Given the description of an element on the screen output the (x, y) to click on. 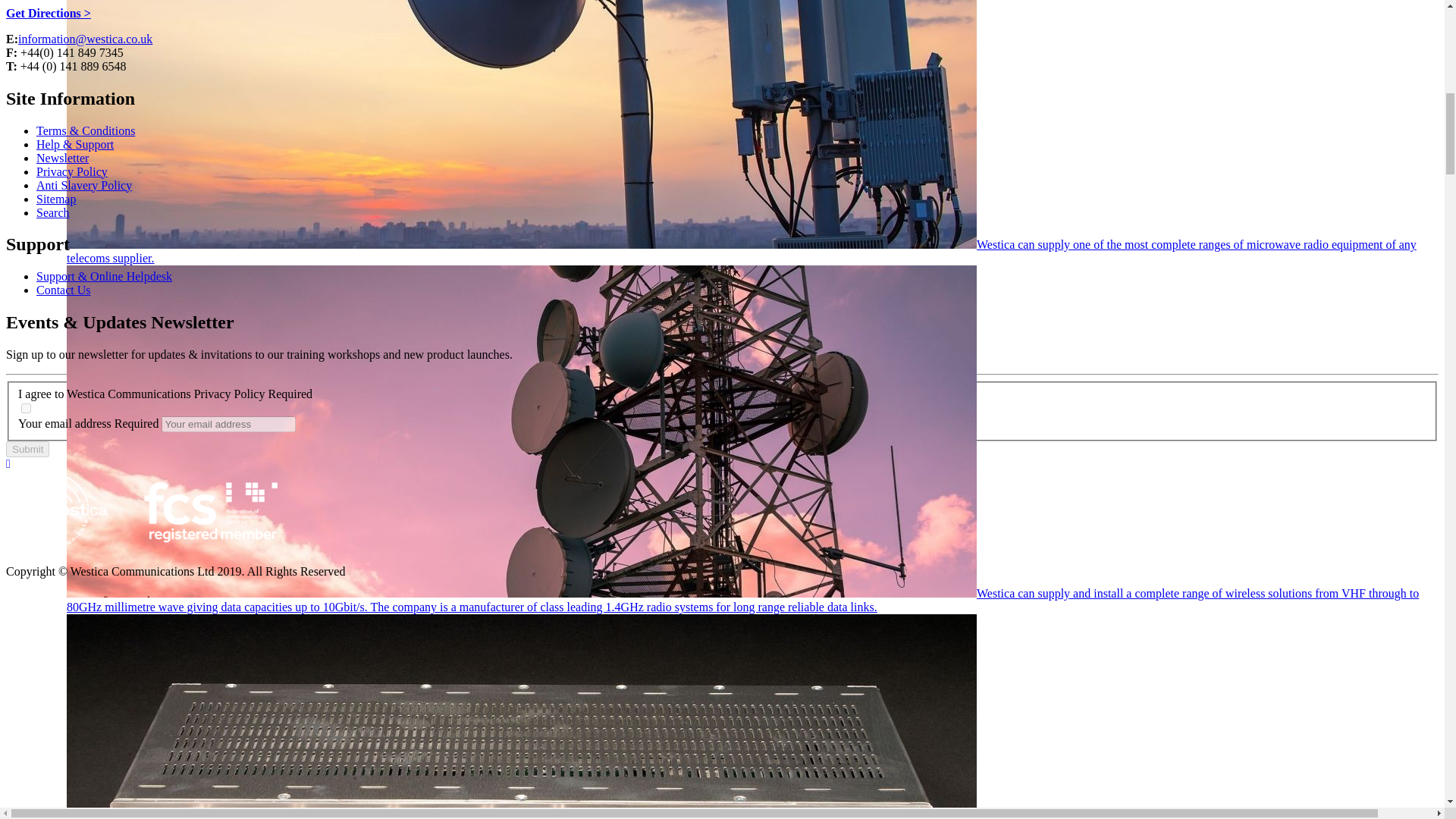
1 (25, 408)
